Given the description of an element on the screen output the (x, y) to click on. 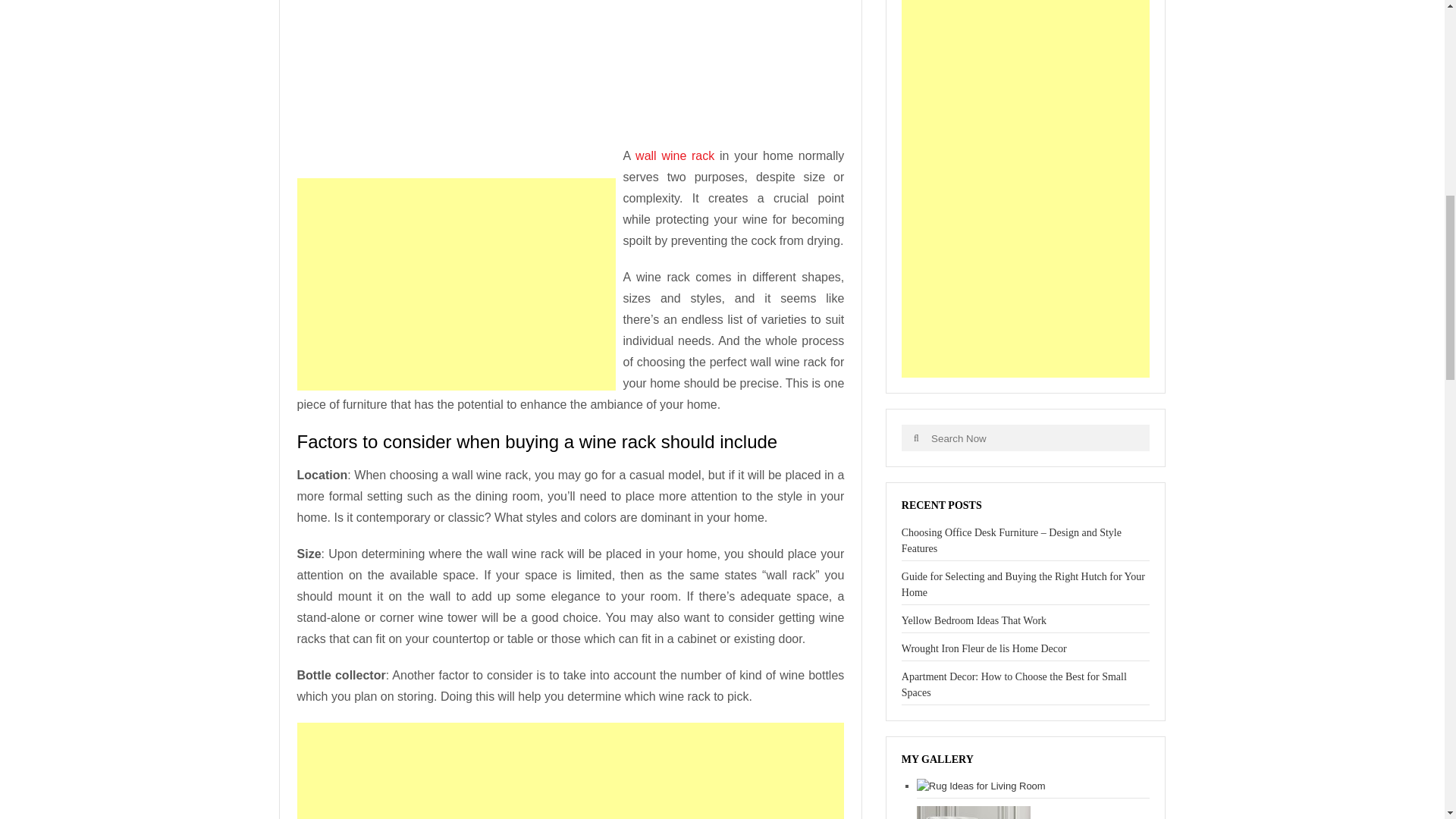
Comfy Accent Chairs (973, 812)
Rug Ideas for Living Room (981, 785)
wall wine rack (674, 155)
Yellow Bedroom Ideas That Work (973, 620)
Guide for Selecting and Buying the Right Hutch for Your Home (1022, 584)
Wrought Iron Fleur de lis Home Decor (984, 648)
Apartment Decor: How to Choose the Best for Small Spaces (1013, 684)
